Given the description of an element on the screen output the (x, y) to click on. 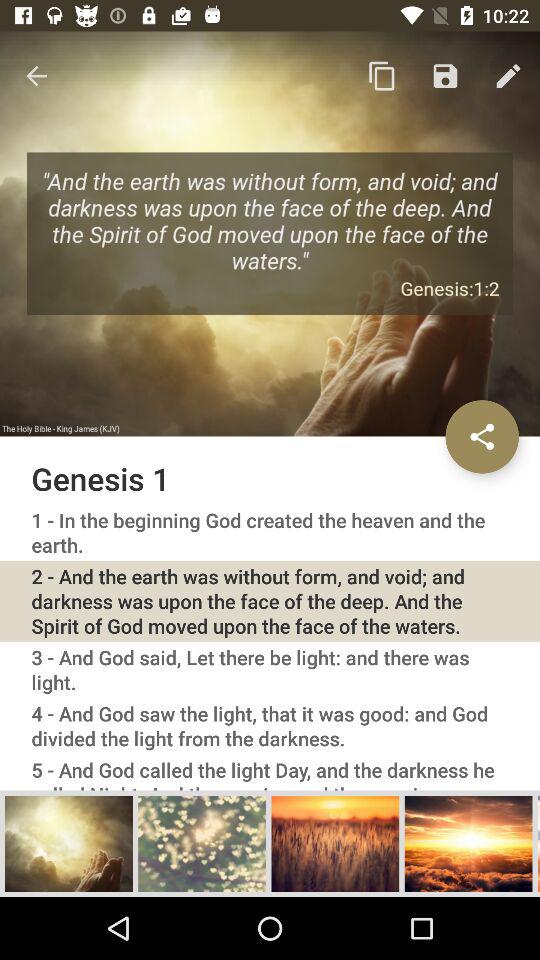
share the verse (482, 436)
